Given the description of an element on the screen output the (x, y) to click on. 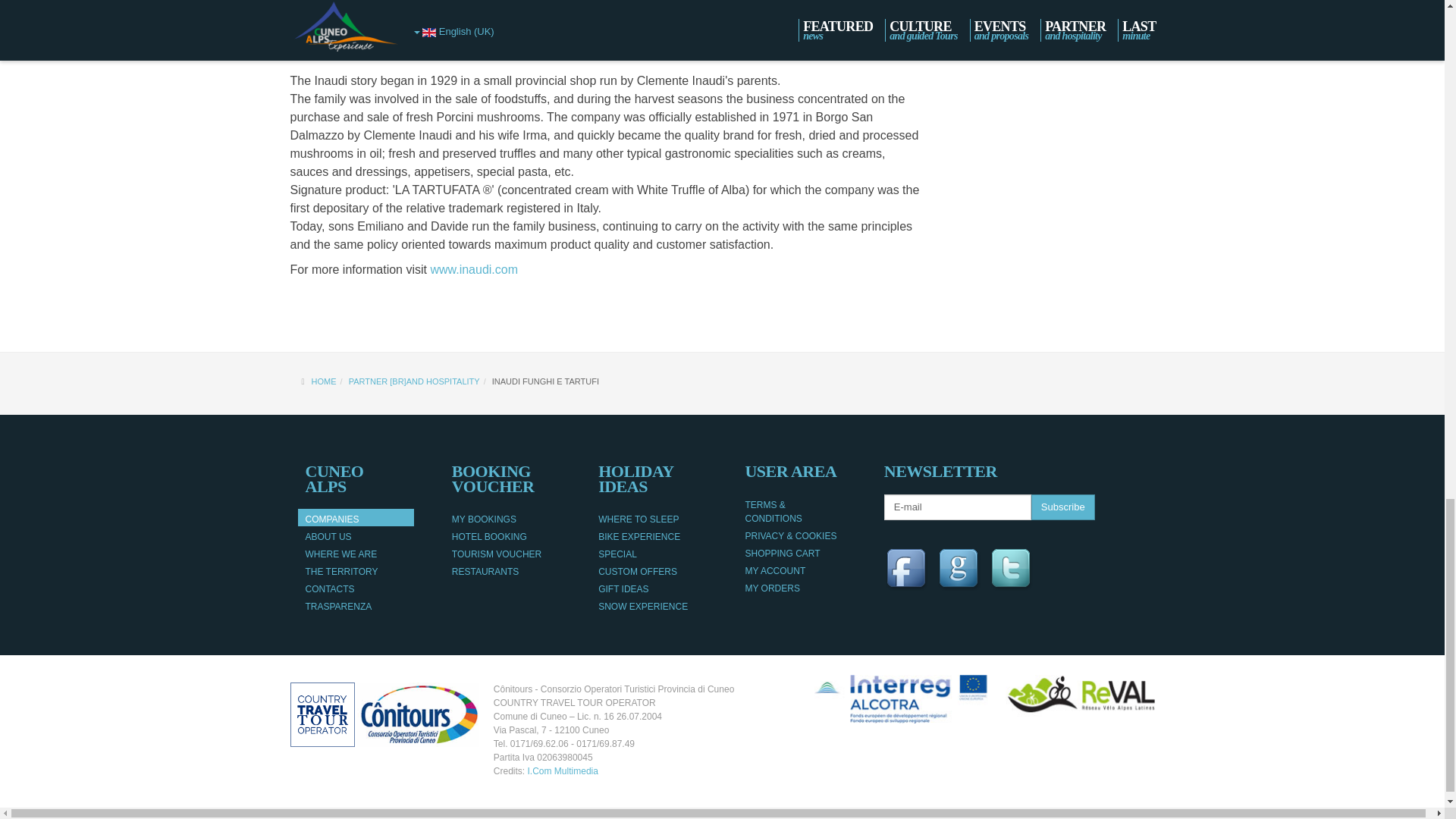
ABOUT US (355, 534)
www.inaudi.com (473, 269)
THE SPA RESORTS (1051, 7)
Submit to Twitter (1012, 569)
Submit to Google Plus (960, 569)
Subscribe (1062, 507)
E-mail (956, 507)
WHERE WE ARE (355, 552)
INFORMATIONS (1051, 34)
Submit to Facebook (908, 569)
